Given the description of an element on the screen output the (x, y) to click on. 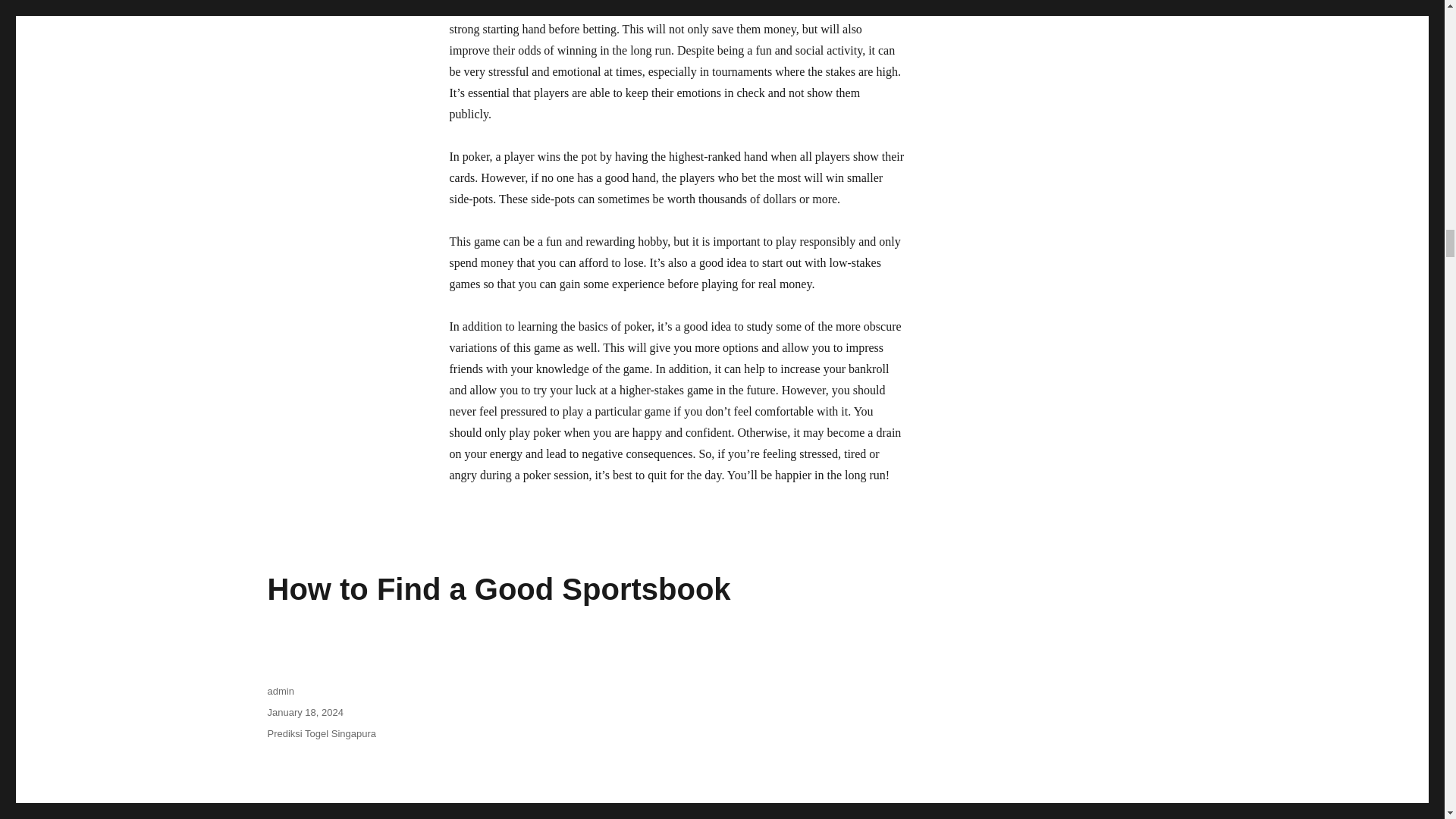
admin (280, 690)
How to Find a Good Sportsbook (498, 589)
January 18, 2024 (304, 712)
